Given the description of an element on the screen output the (x, y) to click on. 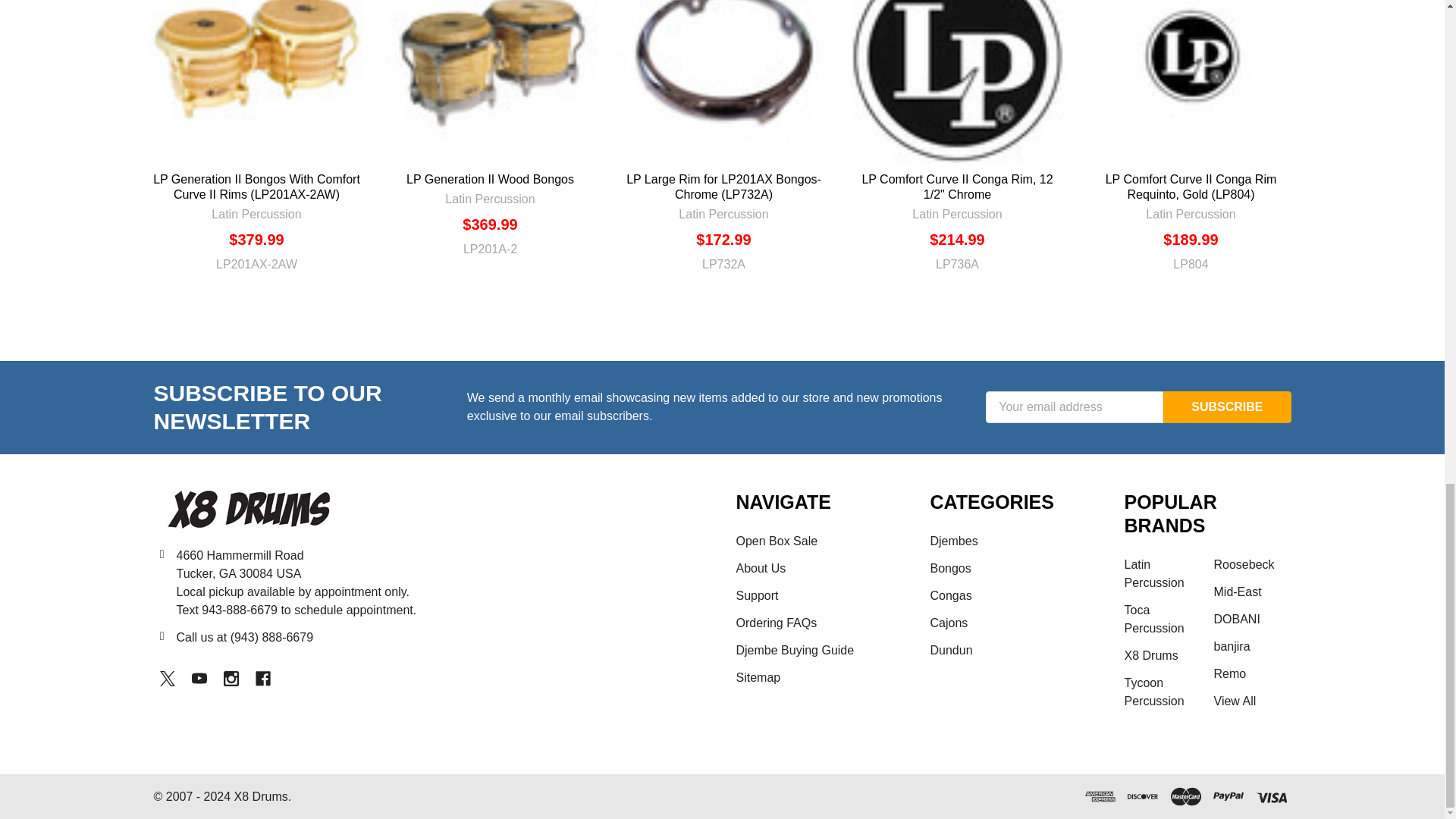
X8Drums.com (247, 509)
Instagram (230, 678)
Subscribe (1226, 407)
Youtube (198, 678)
Facebook (262, 678)
LP Generation II Wood Bongos (490, 81)
X (166, 678)
